Given the description of an element on the screen output the (x, y) to click on. 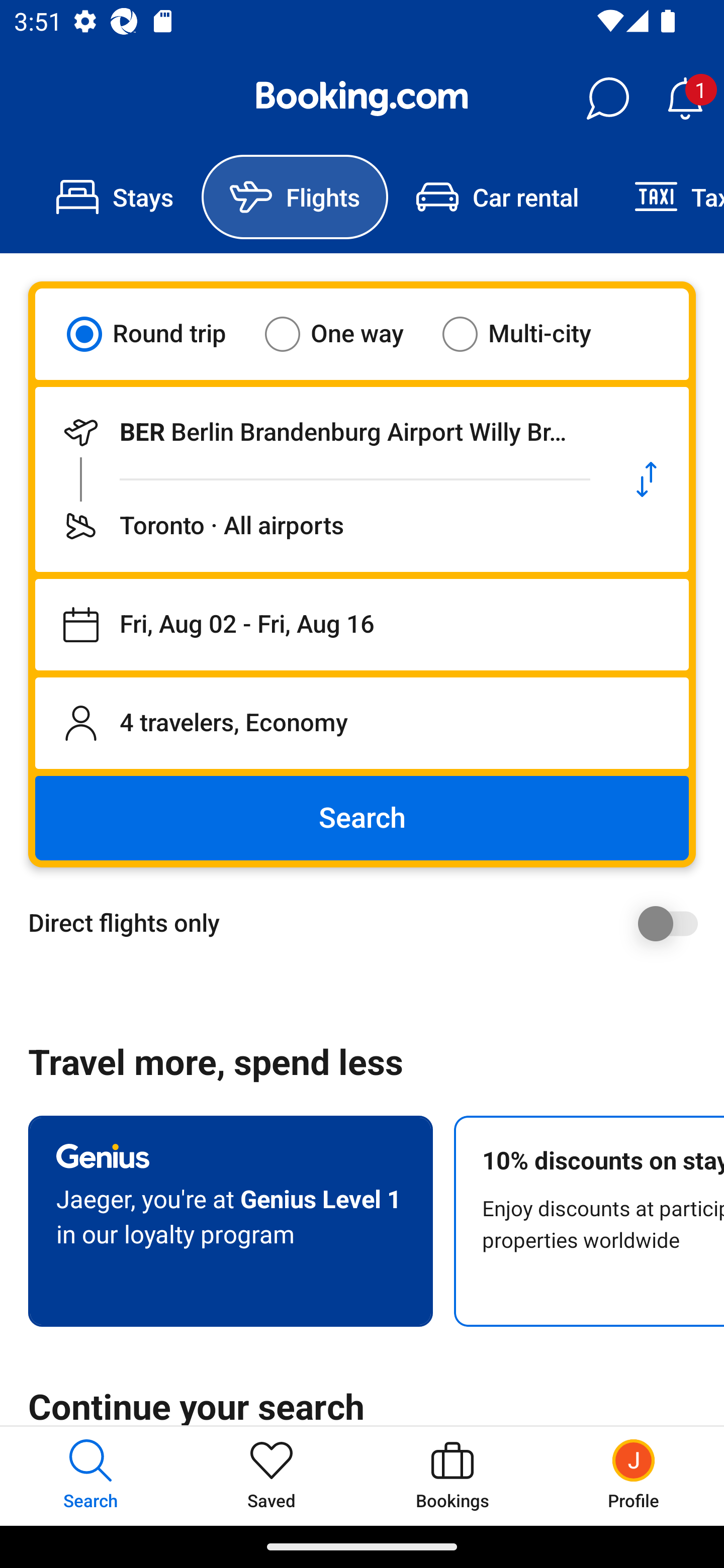
Messages (607, 98)
Notifications (685, 98)
Stays (114, 197)
Flights (294, 197)
Car rental (497, 197)
Taxi (665, 197)
One way (346, 333)
Multi-city (528, 333)
Swap departure location and destination (646, 479)
Flying to Toronto · All airports (319, 525)
Departing on Fri, Aug 02, returning on Fri, Aug 16 (361, 624)
4 travelers, Economy (361, 722)
Search (361, 818)
Direct flights only (369, 923)
Saved (271, 1475)
Bookings (452, 1475)
Profile (633, 1475)
